Given the description of an element on the screen output the (x, y) to click on. 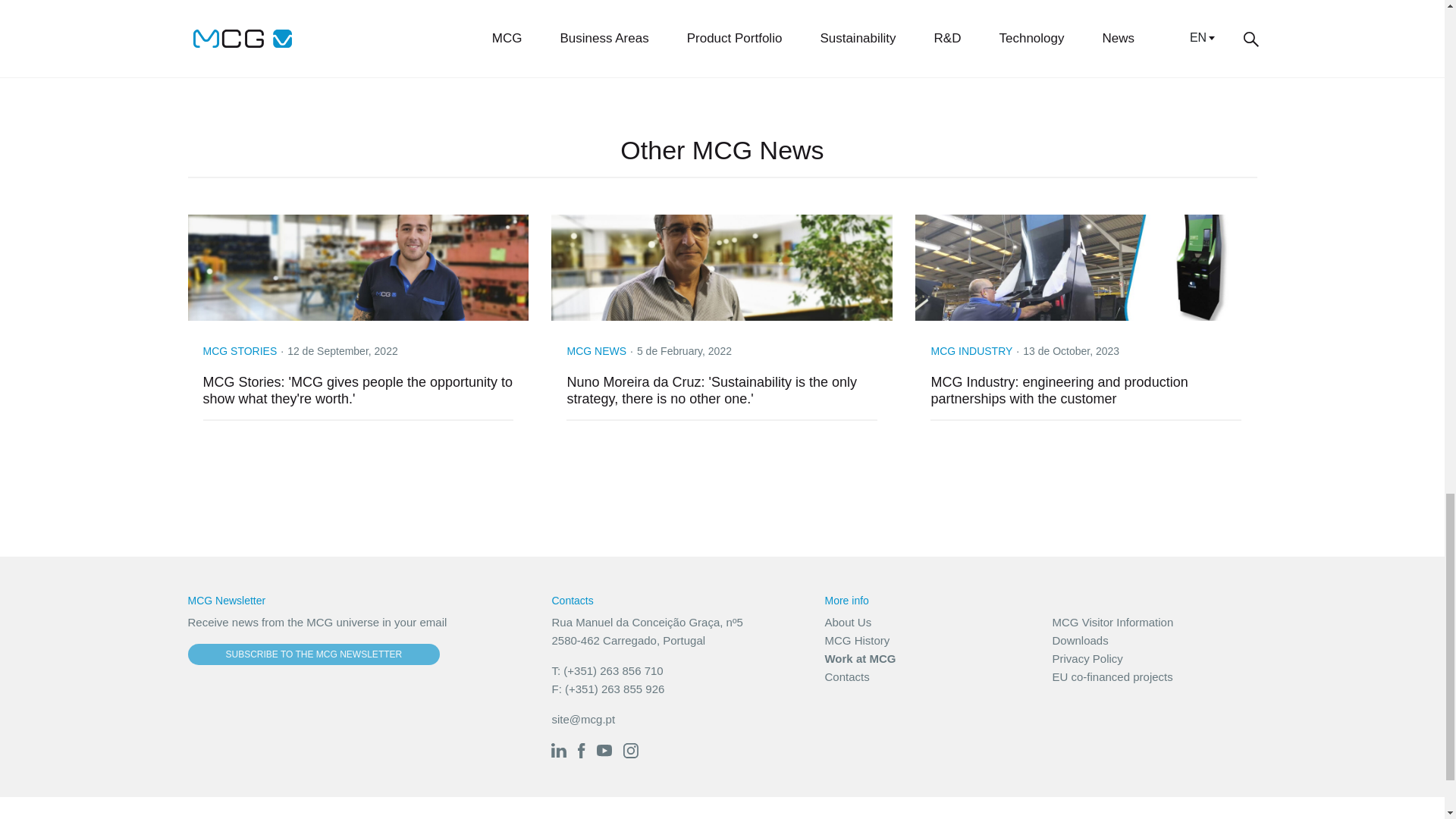
Subscribe to the MCG newsletter (314, 654)
MCG - Linkedin (558, 748)
MCG - Instagram (631, 748)
SUBSCRIBE (881, 18)
SUBSCRIBE TO THE MCG NEWSLETTER (314, 654)
MCG - Youtube (603, 748)
